Given the description of an element on the screen output the (x, y) to click on. 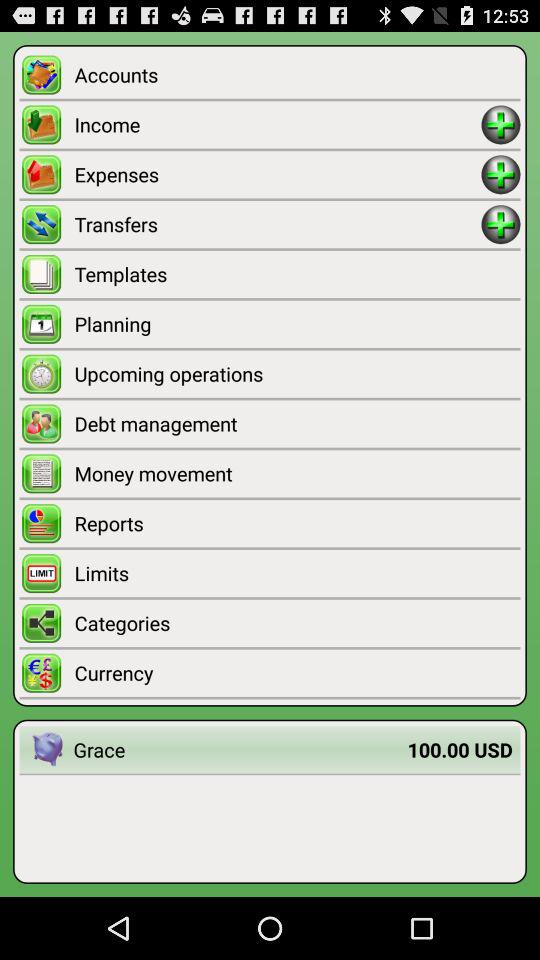
press app to the right of the grace app (459, 749)
